Given the description of an element on the screen output the (x, y) to click on. 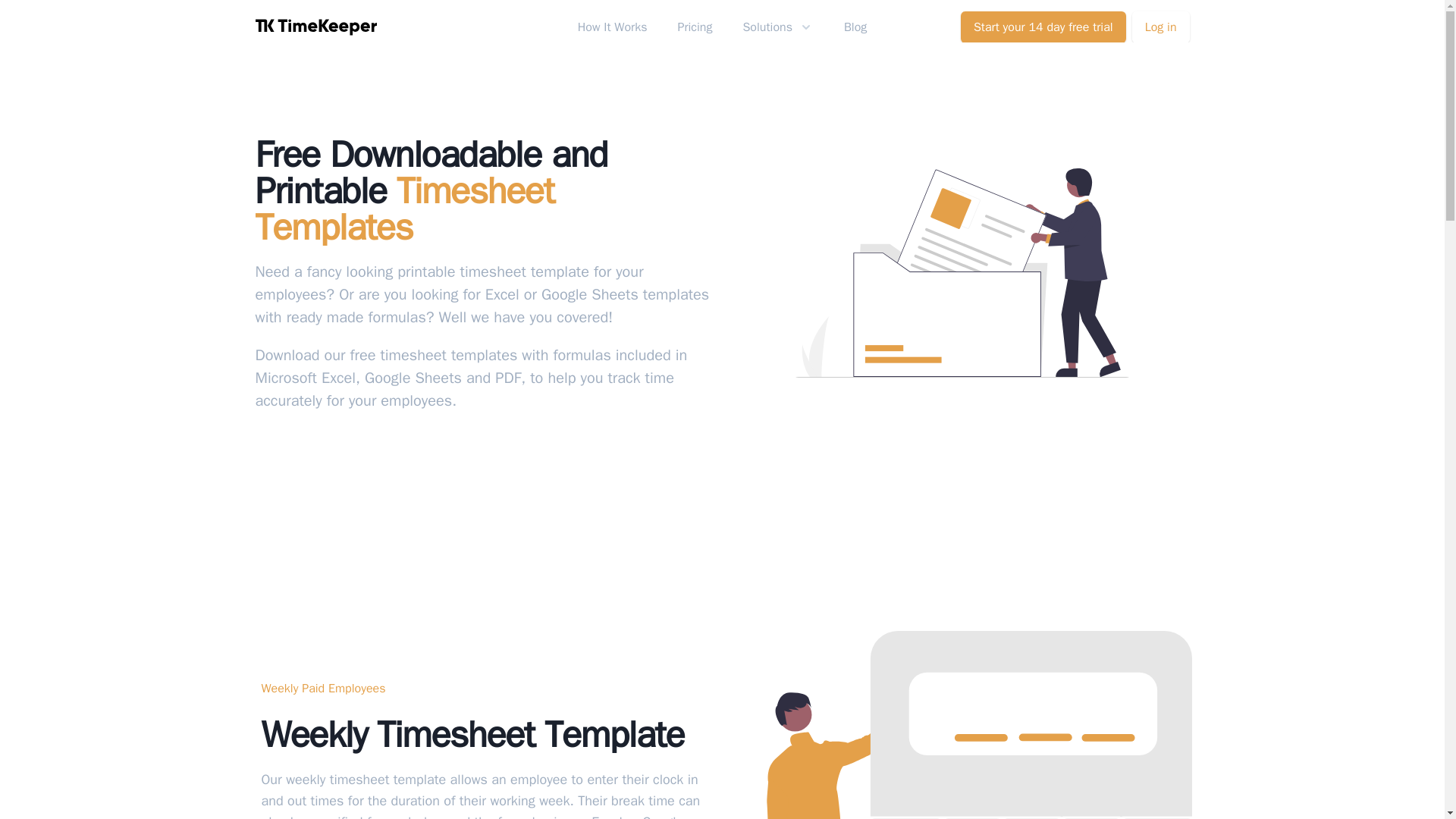
How It Works (612, 27)
Log in (1160, 27)
Pricing (694, 27)
Blog (855, 27)
Solutions (777, 27)
Start your 14 day free trial (1042, 27)
